Given the description of an element on the screen output the (x, y) to click on. 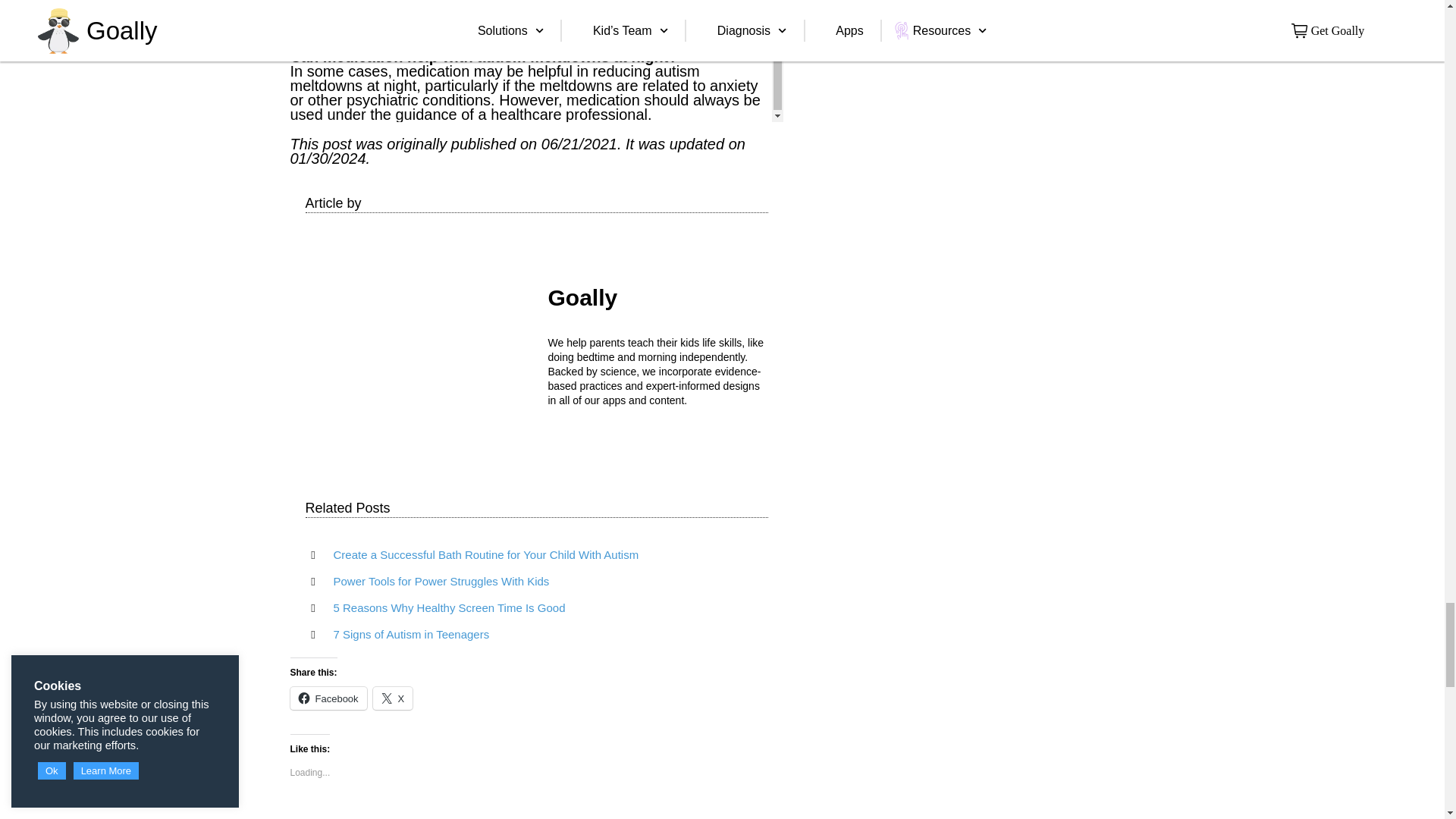
Click to share on Facebook (327, 698)
Click to share on X (392, 698)
